Given the description of an element on the screen output the (x, y) to click on. 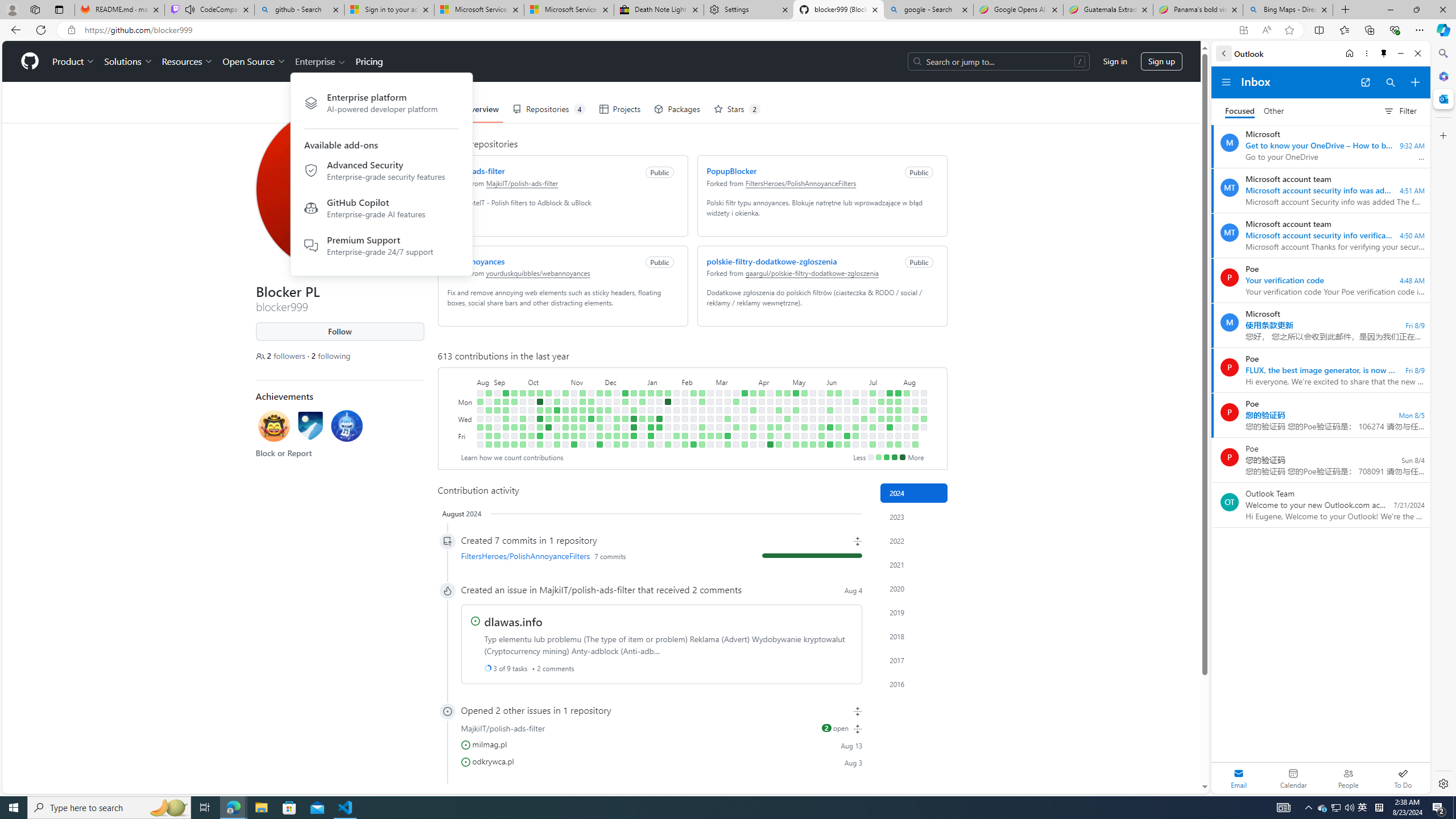
1 contribution on January 1st. (642, 401)
Contribution activity in 2017 (913, 659)
1 contribution on February 2nd. (675, 435)
2020 (913, 588)
October (548, 380)
8 contributions on November 11th. (573, 444)
Read aloud this page (Ctrl+Shift+U) (1266, 29)
No contributions on May 20th. (812, 401)
Focused (1239, 110)
Achievement: Pull Shark (346, 427)
No contributions on December 6th. (607, 418)
9 contributions on December 17th. (624, 392)
2 contributions on October 10th. (539, 410)
